Given the description of an element on the screen output the (x, y) to click on. 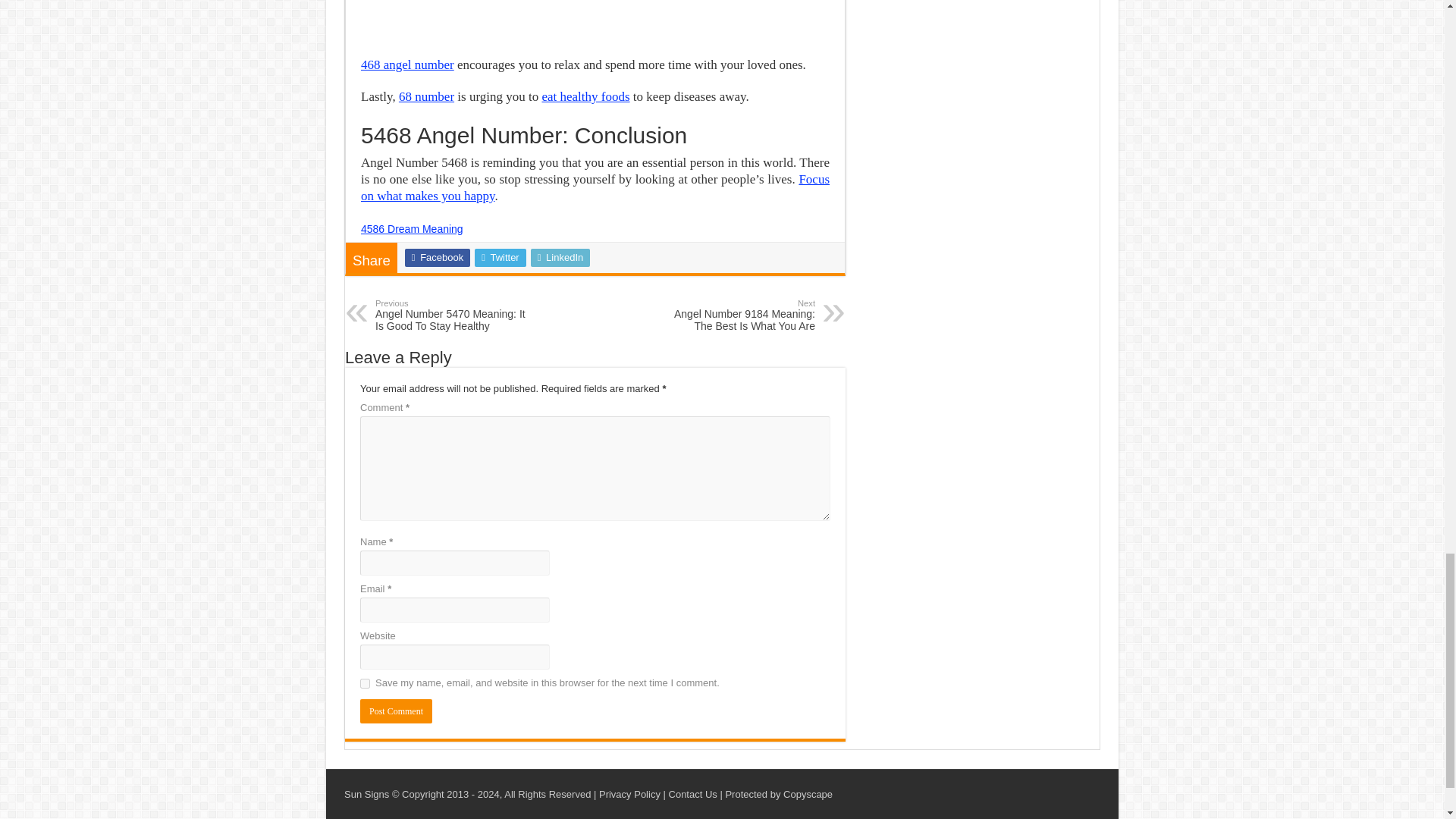
68 number (426, 96)
eat healthy foods (584, 96)
4586 Dream Meaning (412, 228)
468 angel number (407, 64)
Focus on what makes you happy (595, 187)
Post Comment (395, 711)
yes (364, 683)
